Given the description of an element on the screen output the (x, y) to click on. 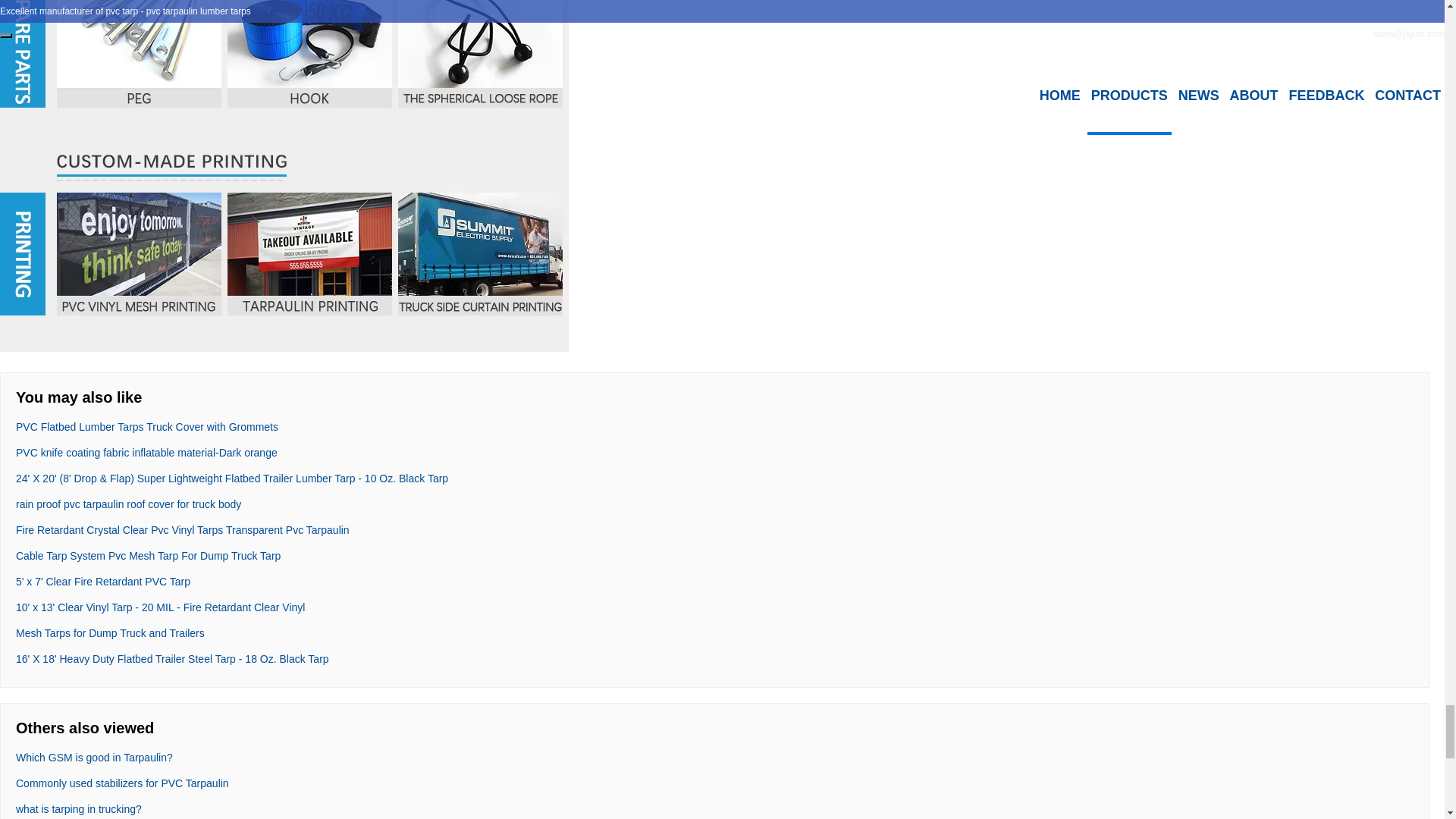
rain proof pvc tarpaulin roof cover for truck body (128, 503)
Commonly used stabilizers for PVC Tarpaulin (122, 783)
what is tarping in trucking? (78, 808)
PVC knife coating fabric inflatable material-Dark orange (147, 452)
Mesh Tarps for Dump Truck and Trailers (110, 633)
Which GSM is good in Tarpaulin? (94, 757)
PVC knife coating fabric inflatable material-Dark orange (147, 452)
PVC Flatbed Lumber Tarps Truck Cover with Grommets (147, 426)
Cable Tarp System Pvc Mesh Tarp For Dump Truck Tarp (148, 555)
PVC Flatbed Lumber Tarps Truck Cover with Grommets (147, 426)
5' x 7' Clear Fire Retardant PVC Tarp (103, 581)
